Given the description of an element on the screen output the (x, y) to click on. 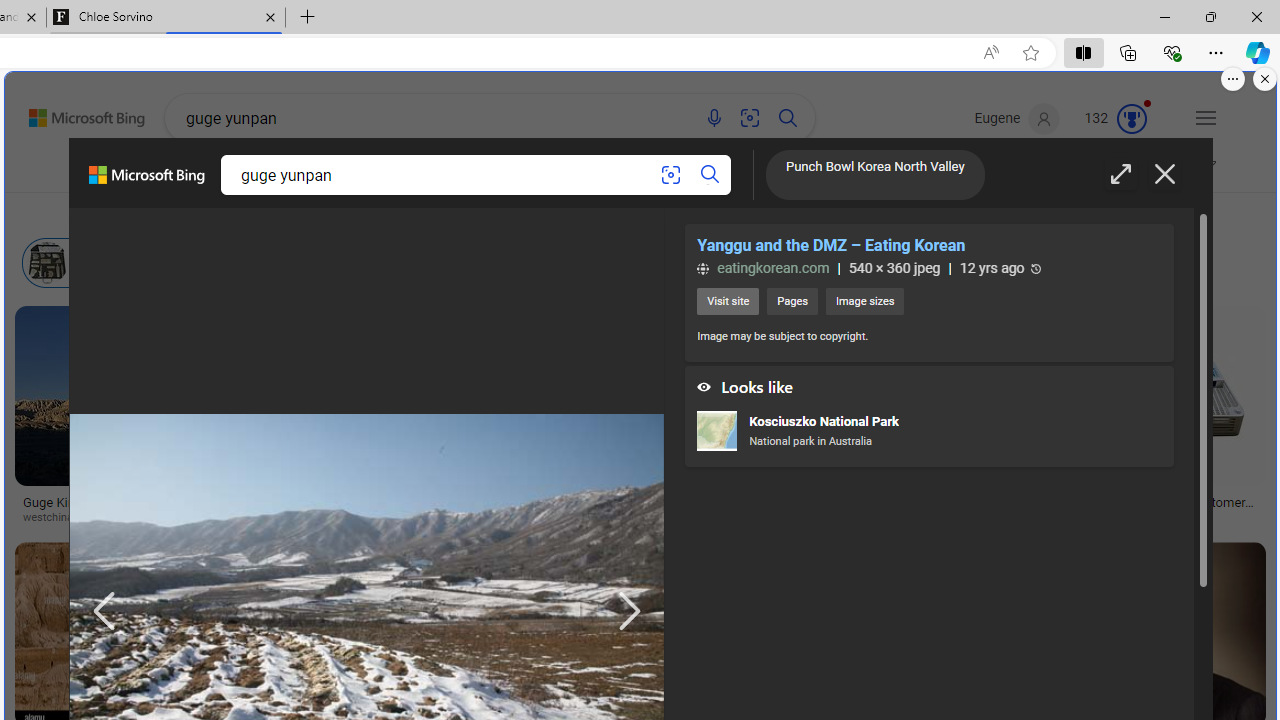
yunpantelecom.com (1165, 517)
Digital Caliper (1000, 496)
Punch Bowl Korea North Valley (875, 177)
Depth Gauge (473, 262)
Class: item col (657, 263)
Kosciuszko National Park (716, 431)
Chloe Sorvino (166, 17)
Looks like (928, 382)
Depth Gauge (509, 263)
Gauge Tool Kit (1000, 375)
